Given the description of an element on the screen output the (x, y) to click on. 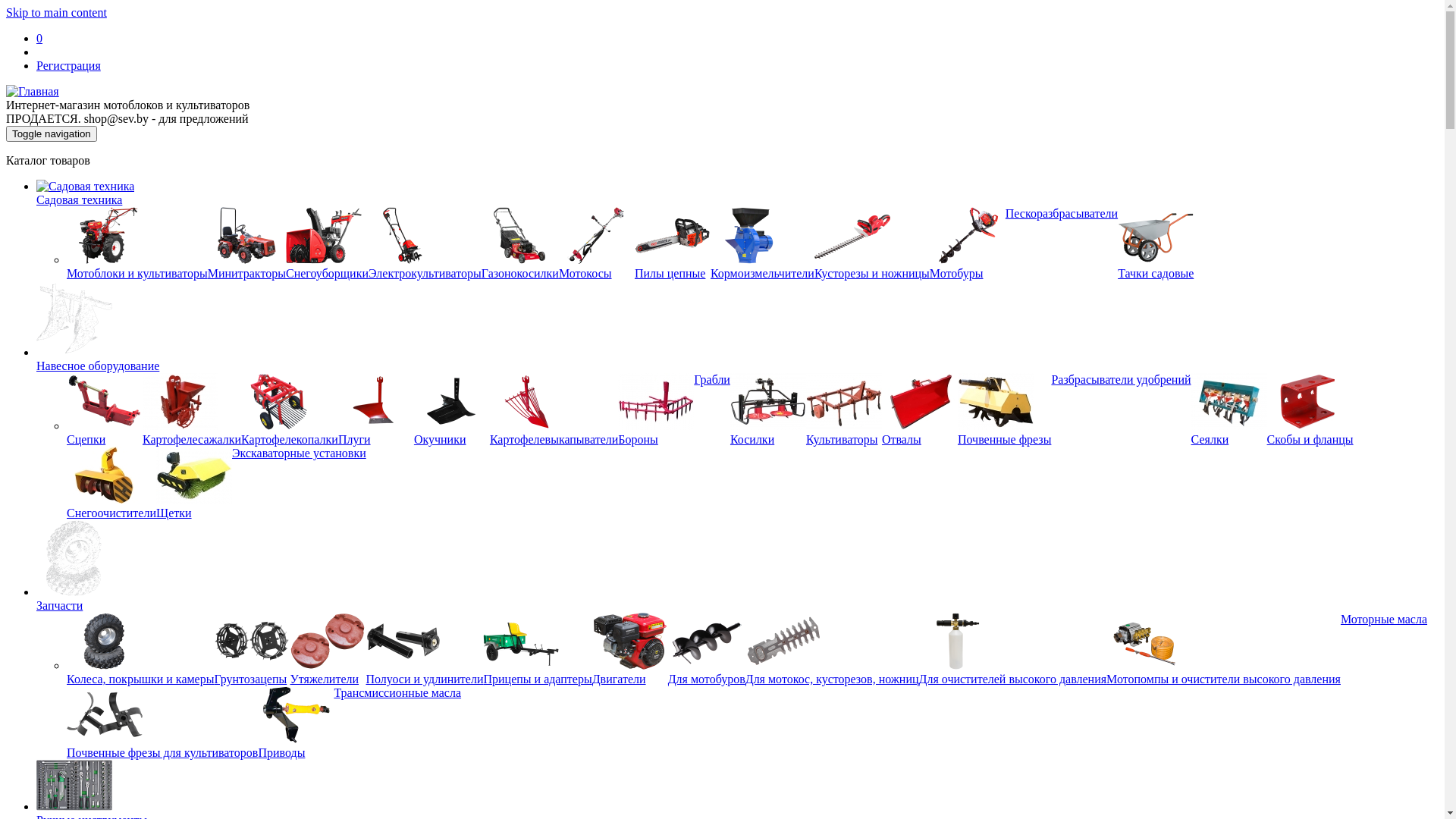
0 Element type: text (39, 37)
Toggle navigation Element type: text (51, 133)
Skip to main content Element type: text (56, 12)
